Given the description of an element on the screen output the (x, y) to click on. 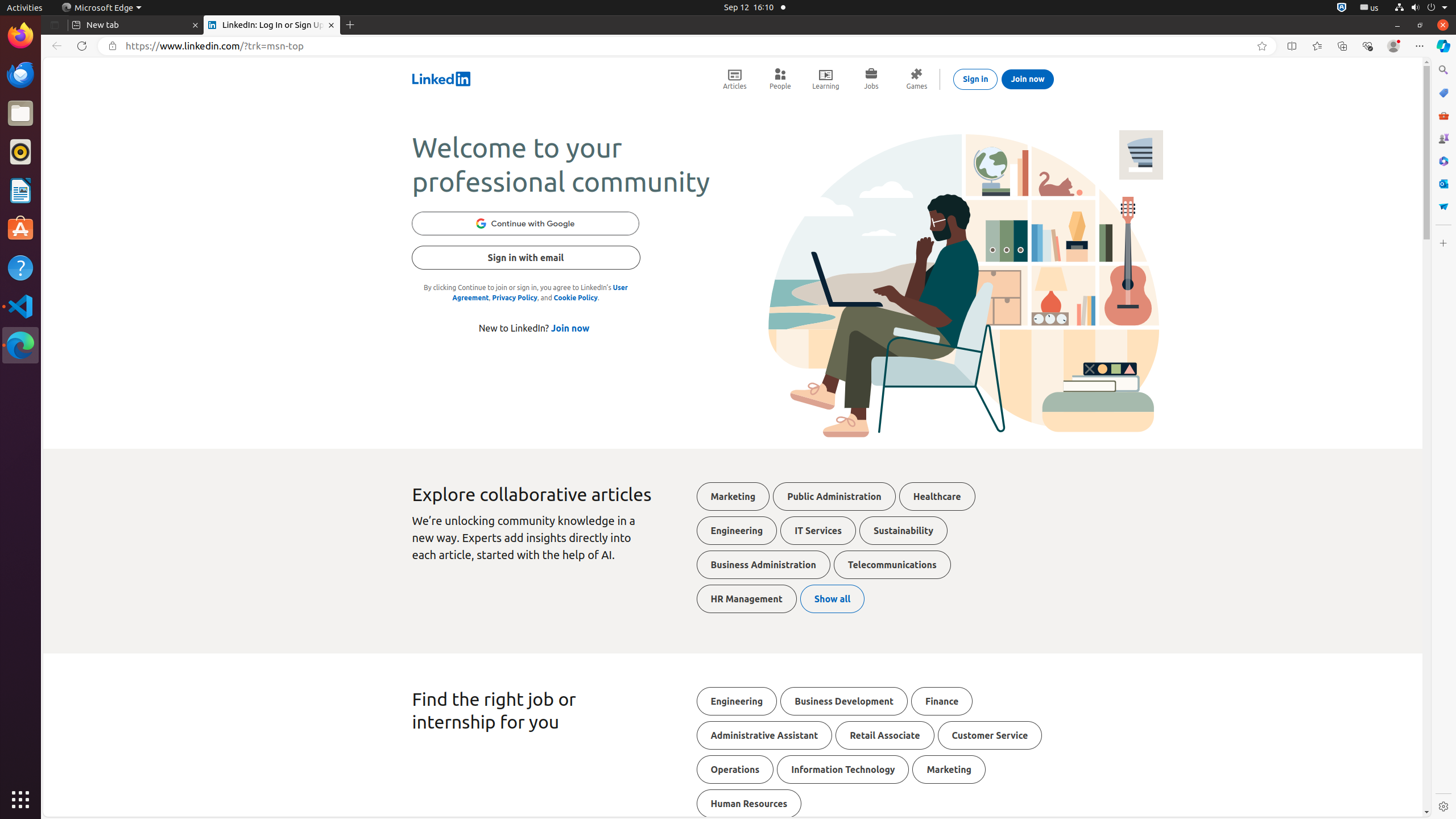
IT Services Element type: link (817, 530)
Cookie Policy Element type: link (575, 297)
Games Element type: push-button (1443, 137)
Business Administration Element type: link (762, 564)
Privacy Policy Element type: link (514, 297)
